Given the description of an element on the screen output the (x, y) to click on. 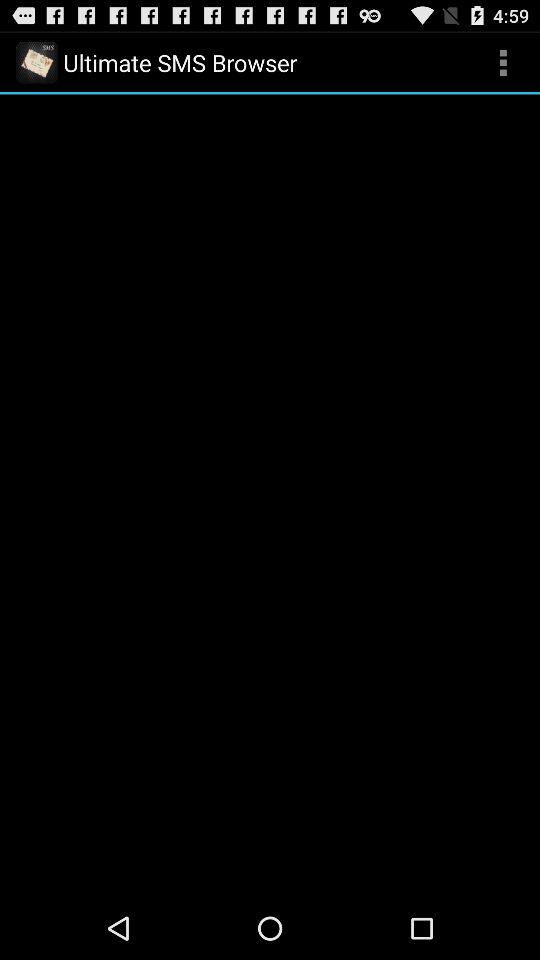
click the icon at the center (270, 495)
